Given the description of an element on the screen output the (x, y) to click on. 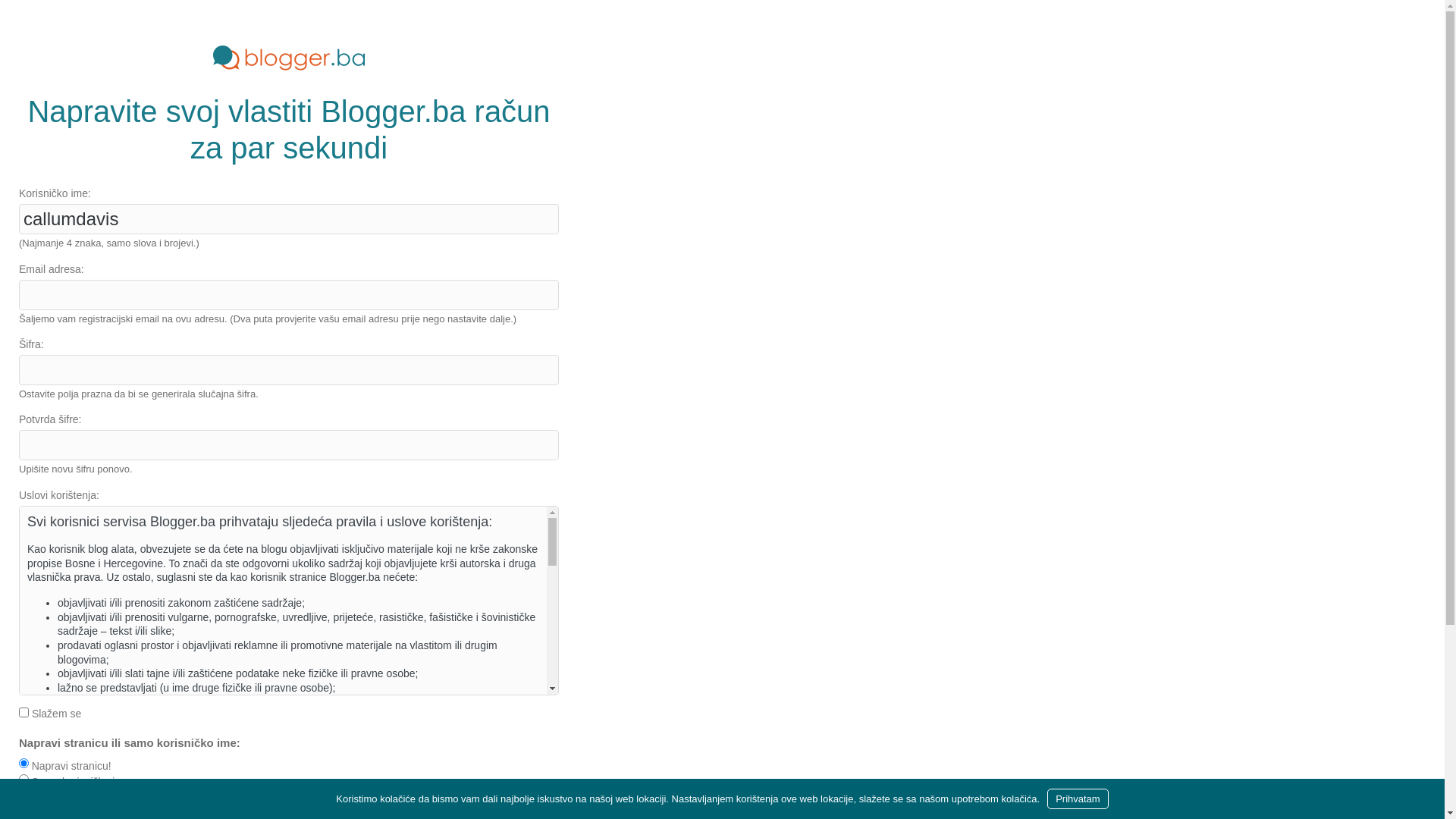
Prihvatam Element type: text (1077, 798)
